Given the description of an element on the screen output the (x, y) to click on. 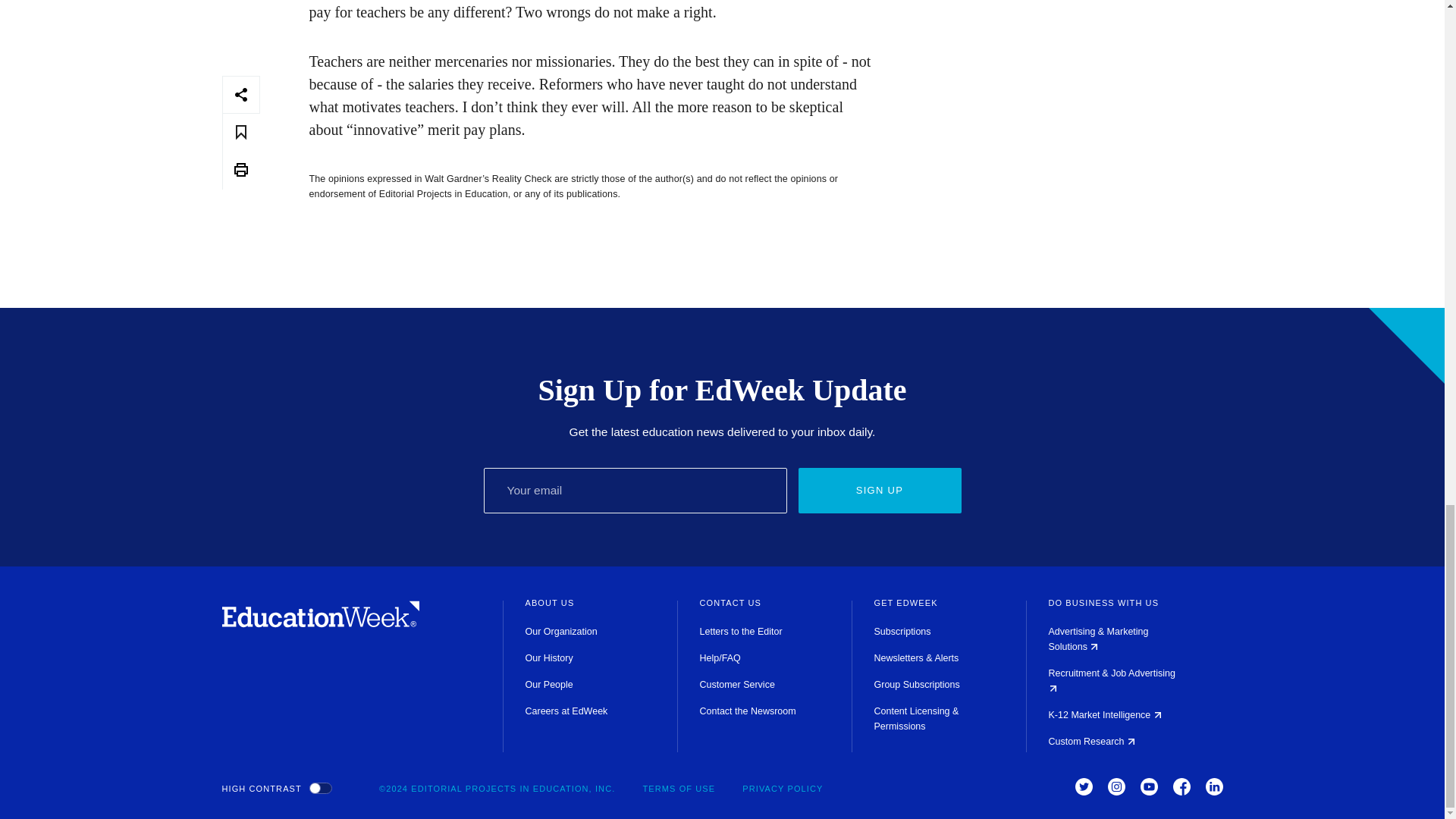
Homepage (320, 623)
